Given the description of an element on the screen output the (x, y) to click on. 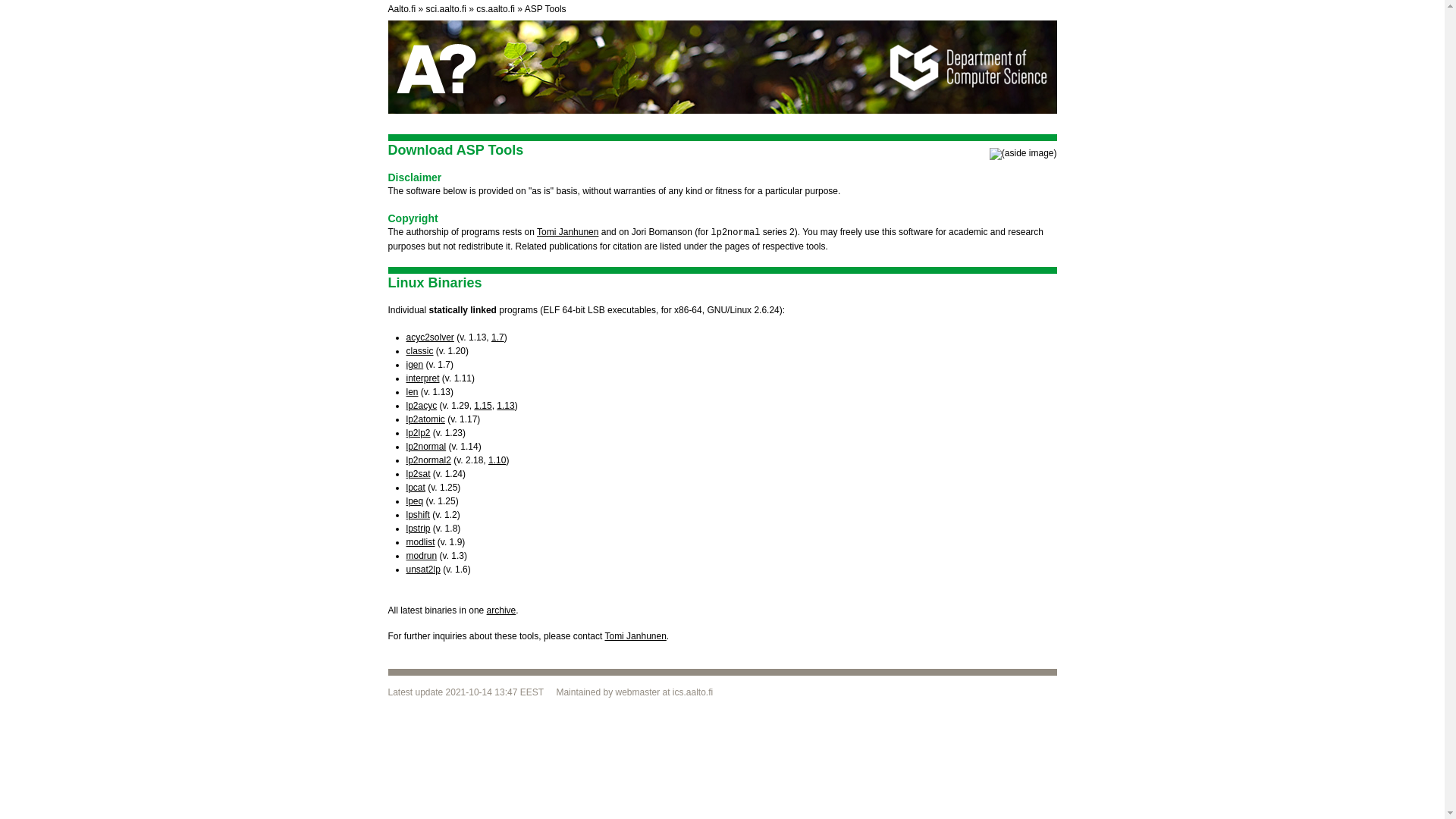
lpcat (415, 487)
igen (414, 364)
unsat2lp (423, 569)
lp2sat (418, 473)
lp2acyc (422, 405)
archive (501, 610)
interpret (422, 378)
sci.aalto.fi (445, 9)
lpshift (417, 514)
Department of Computer Science (495, 9)
